Given the description of an element on the screen output the (x, y) to click on. 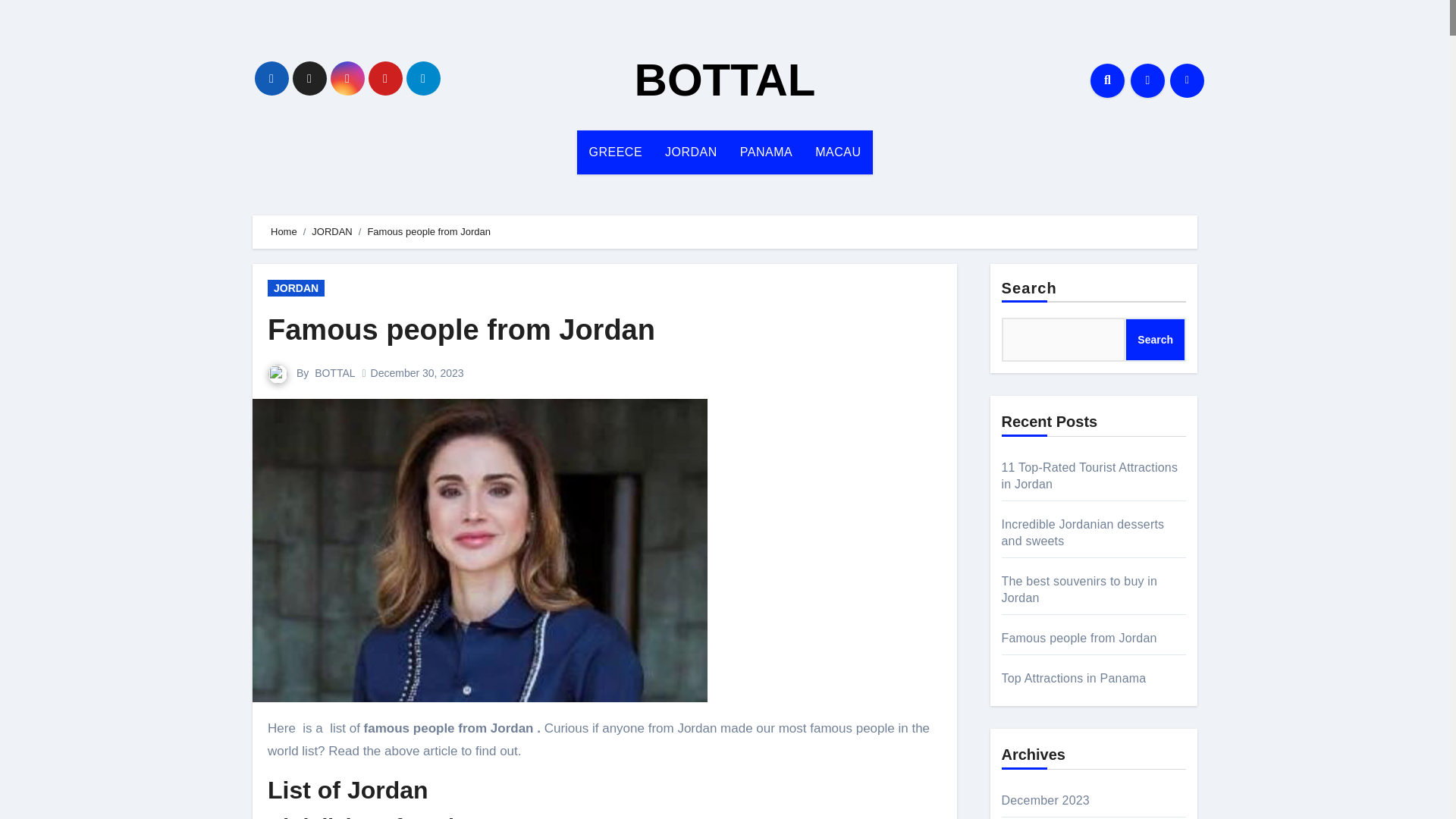
PANAMA (766, 152)
Permalink to: Famous people from Jordan (461, 329)
BOTTAL (334, 372)
BOTTAL (724, 79)
JORDAN (691, 152)
GREECE (614, 152)
JORDAN (691, 152)
PANAMA (766, 152)
JORDAN (295, 288)
December 30, 2023 (417, 372)
MACAU (837, 152)
Famous people from Jordan (461, 329)
GREECE (614, 152)
MACAU (837, 152)
Home (283, 231)
